Given the description of an element on the screen output the (x, y) to click on. 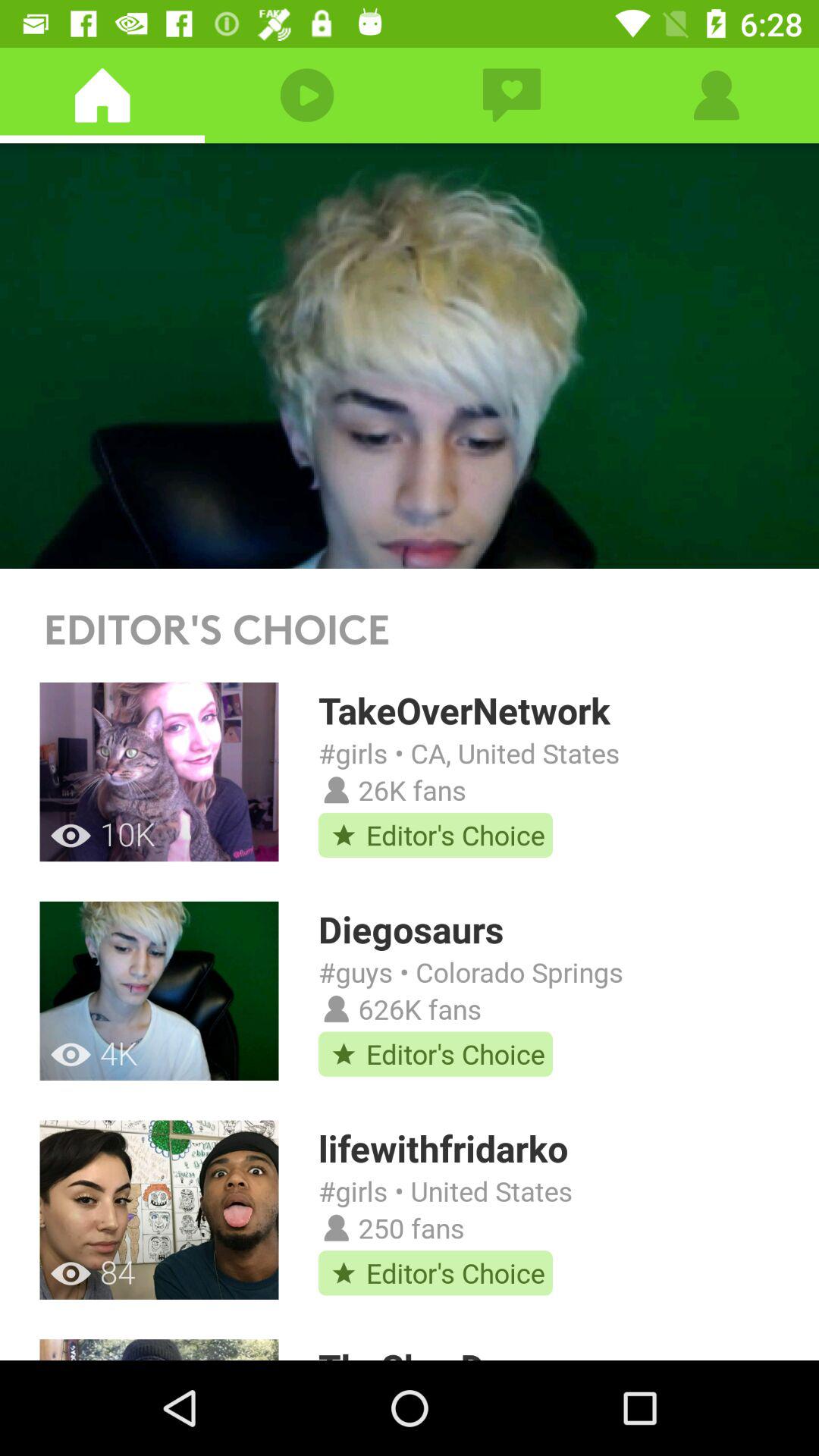
watch (409, 355)
